Given the description of an element on the screen output the (x, y) to click on. 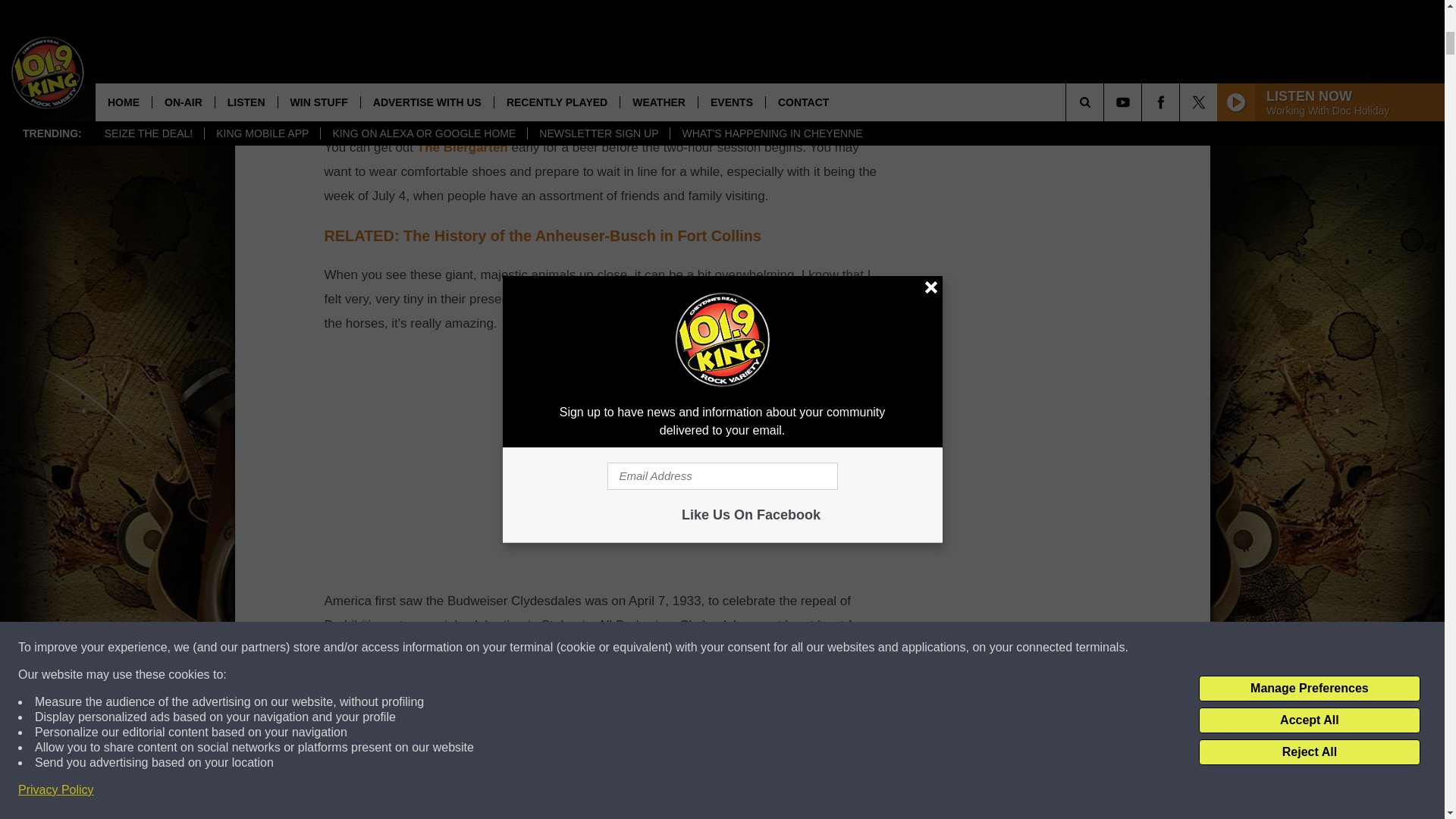
Email Address (600, 87)
